Given the description of an element on the screen output the (x, y) to click on. 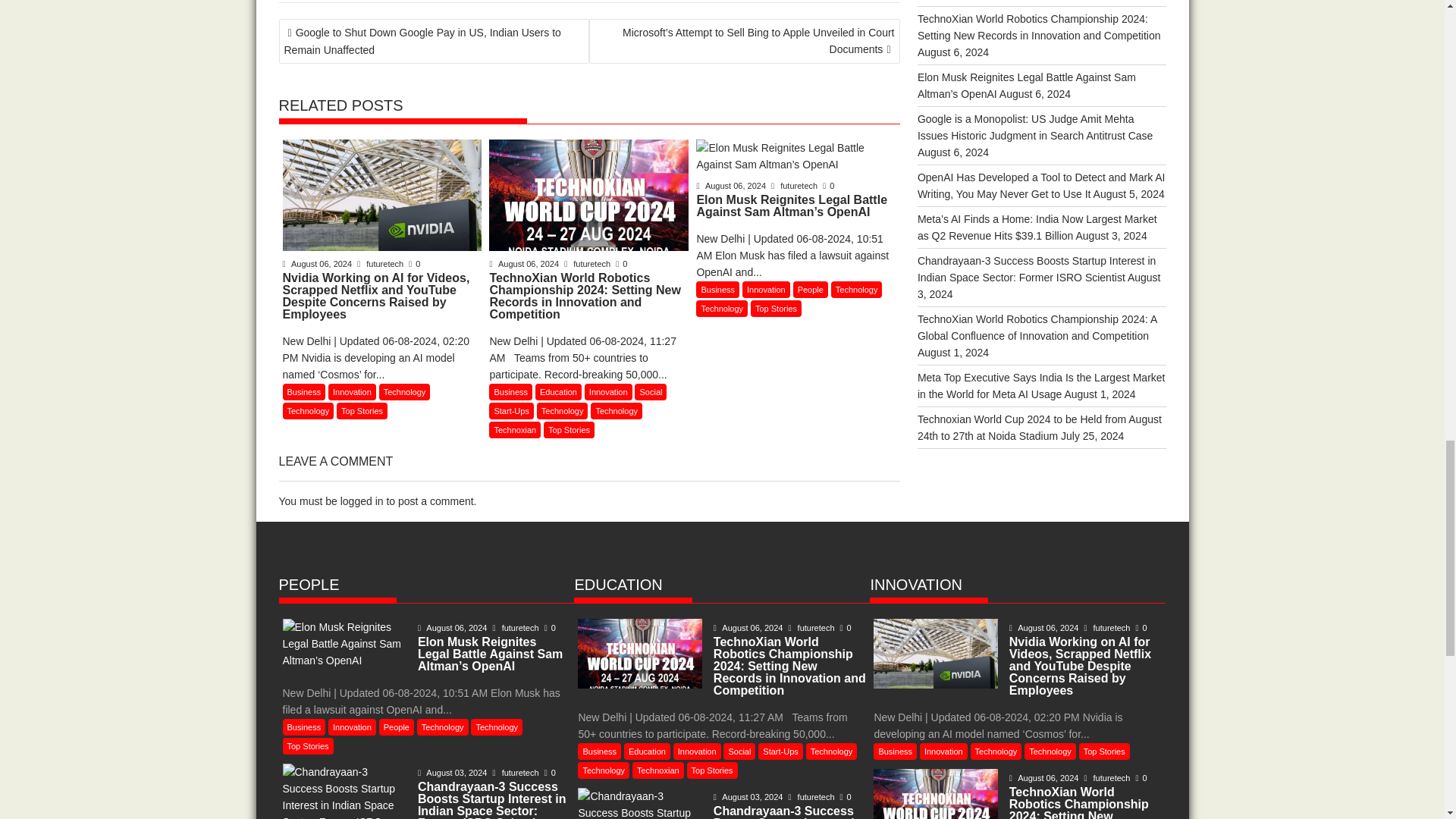
futuretech (381, 263)
futuretech (588, 263)
futuretech (795, 185)
August 06, 2024 (317, 263)
